Given the description of an element on the screen output the (x, y) to click on. 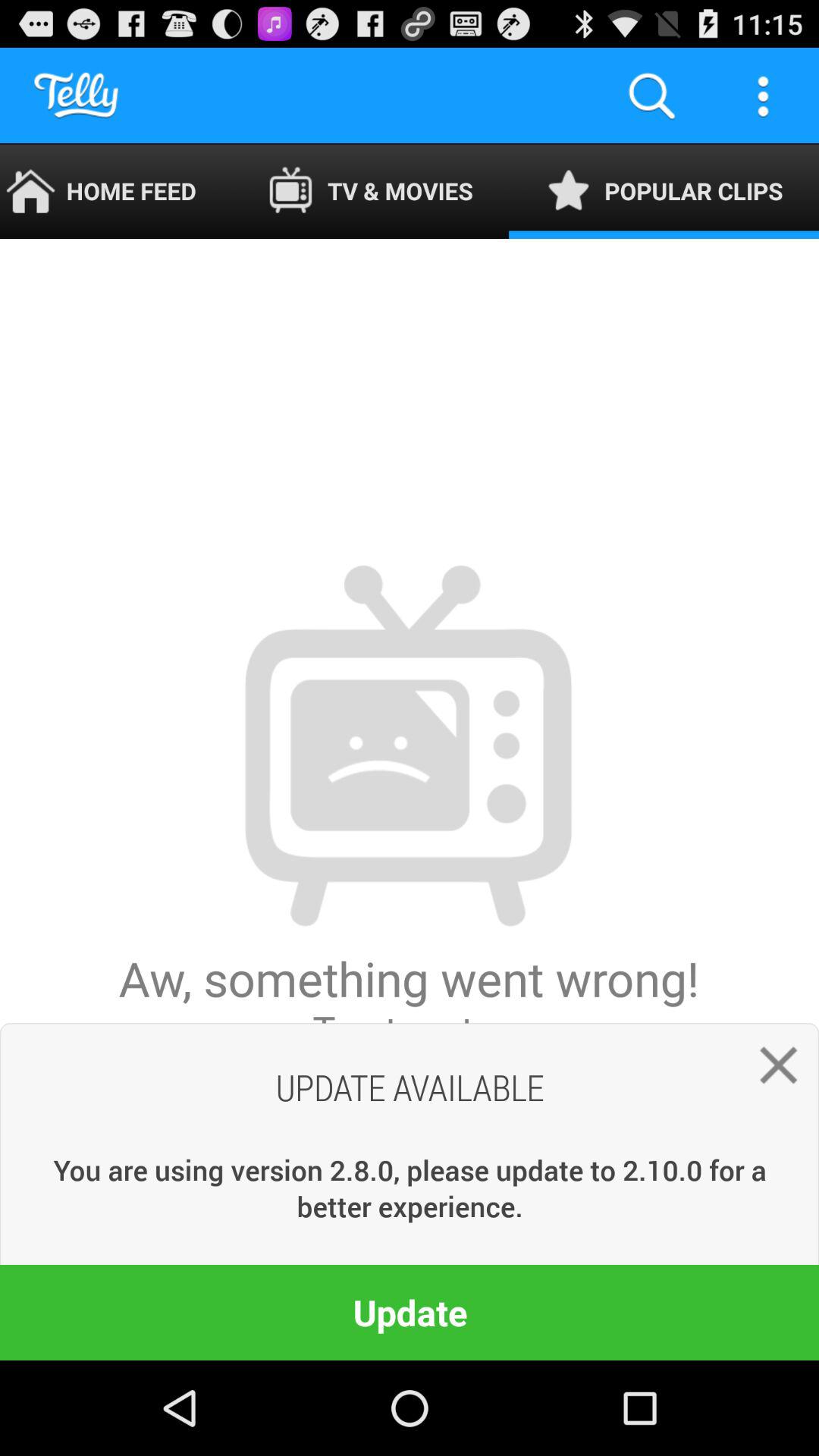
choose home feed item (116, 190)
